Given the description of an element on the screen output the (x, y) to click on. 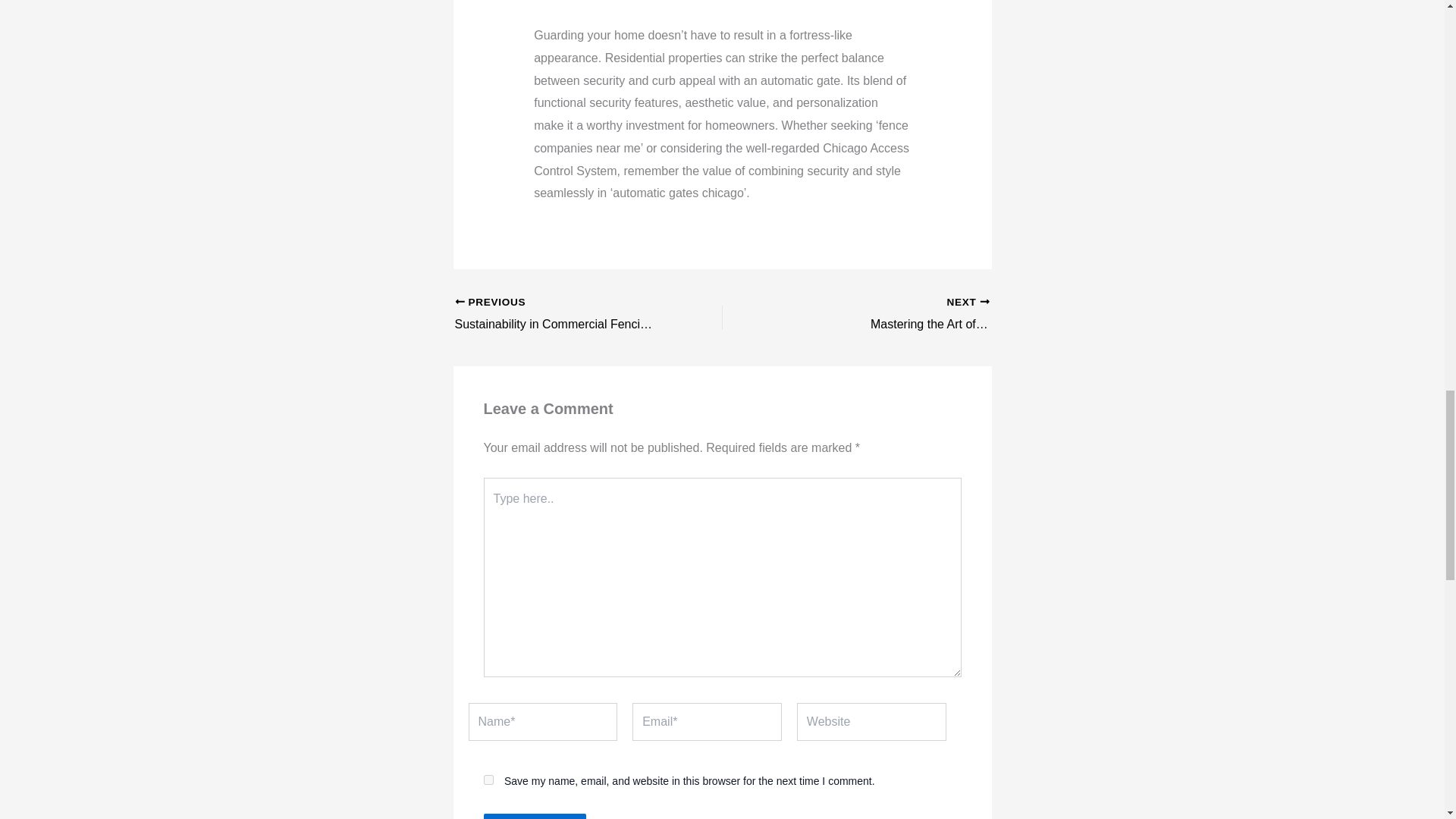
Mastering the Art of Wooden Fences (923, 314)
yes (488, 779)
Sustainability in Commercial Fencing: Eco-Friendly Choices (561, 314)
Post Comment (534, 816)
